Given the description of an element on the screen output the (x, y) to click on. 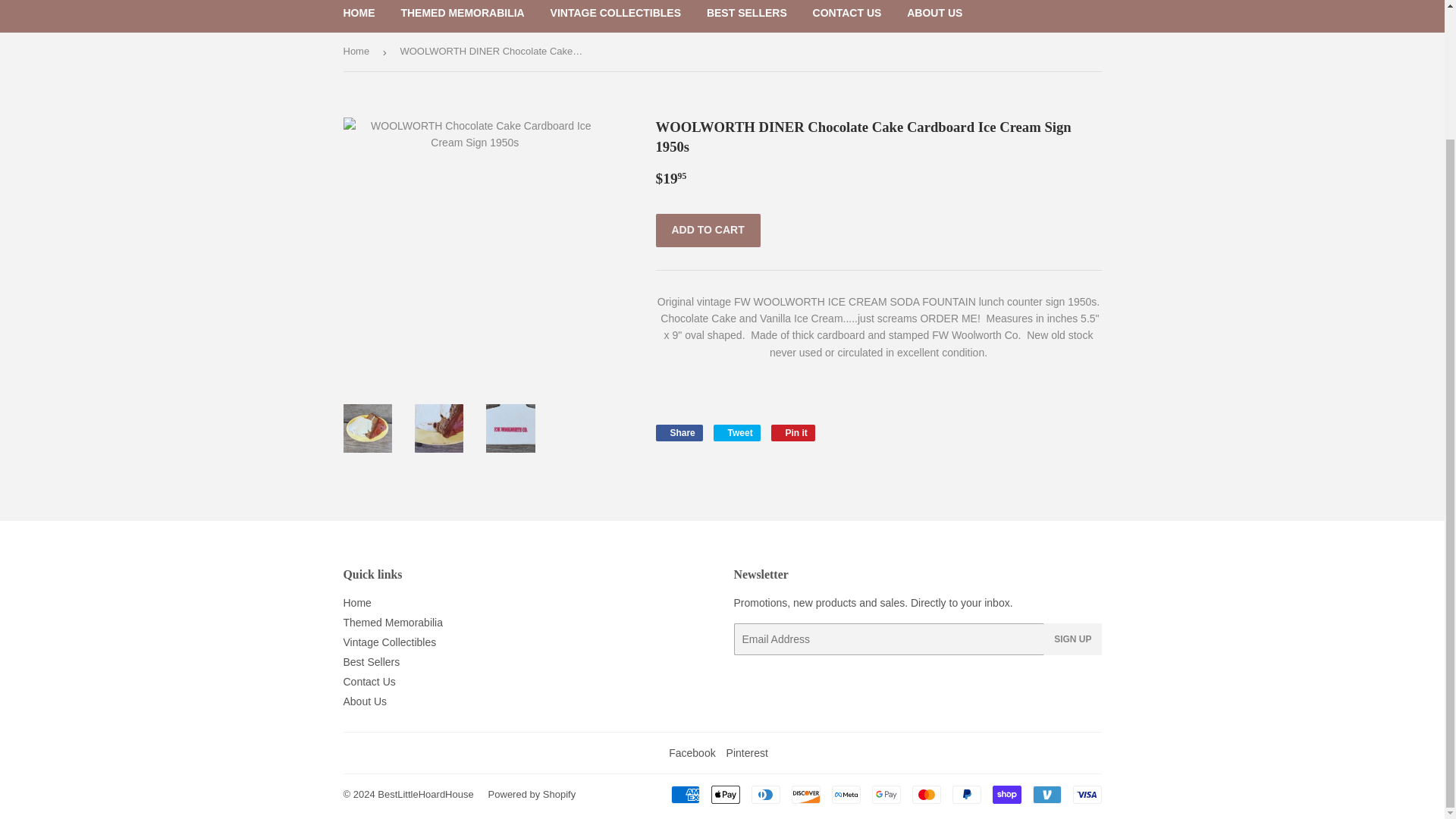
Shop Pay (1005, 794)
Visa (1085, 794)
Discover (806, 794)
Apple Pay (725, 794)
Google Pay (886, 794)
Diners Club (764, 794)
BestLittleHoardHouse on Pinterest (747, 752)
Tweet on Twitter (736, 433)
Venmo (1046, 794)
BestLittleHoardHouse on Facebook (691, 752)
Meta Pay (845, 794)
American Express (683, 794)
Pin on Pinterest (793, 433)
Mastercard (925, 794)
PayPal (966, 794)
